Given the description of an element on the screen output the (x, y) to click on. 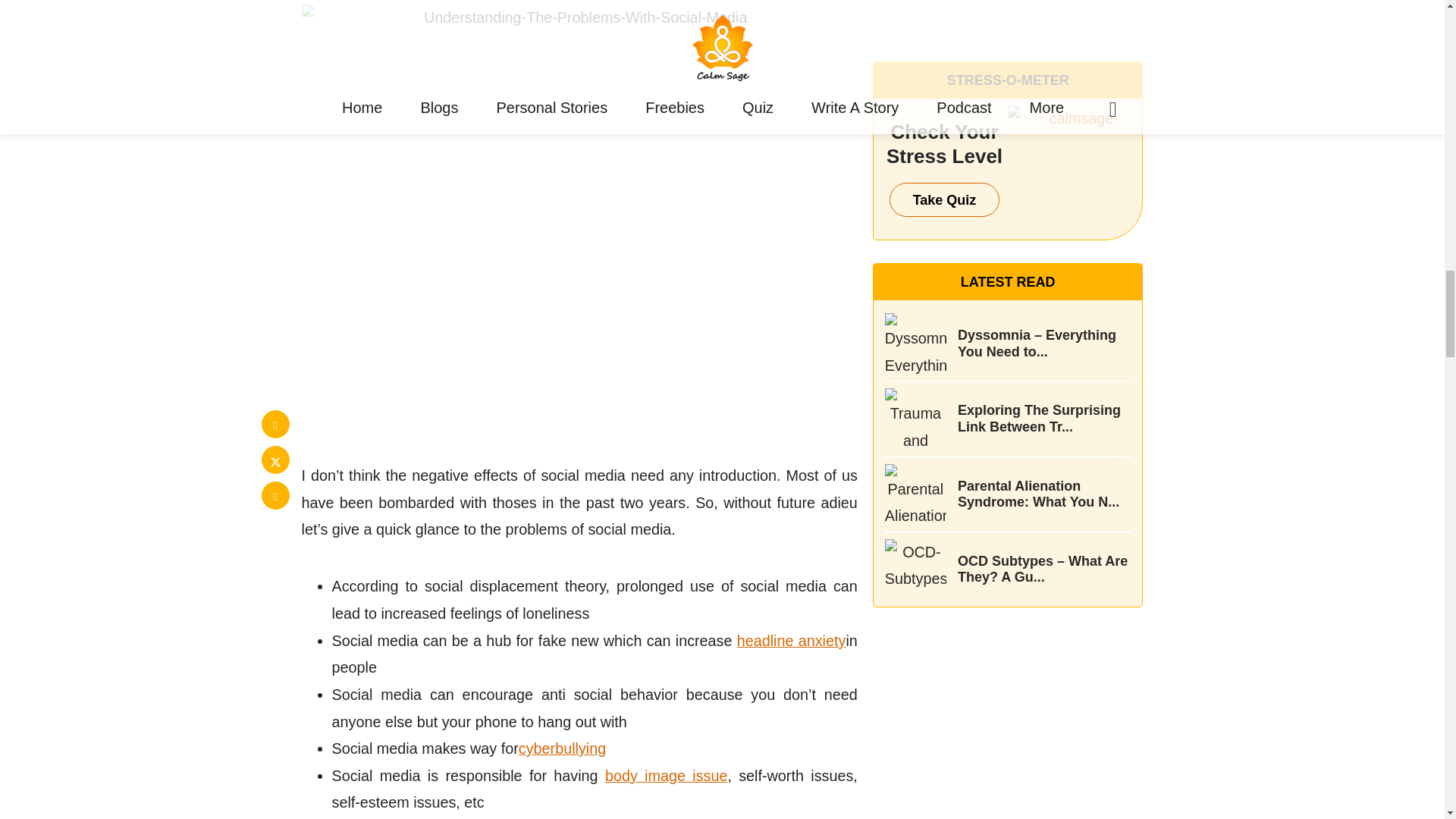
headline anxiety (790, 640)
cyberbullying (561, 748)
body image issue (666, 775)
